Given the description of an element on the screen output the (x, y) to click on. 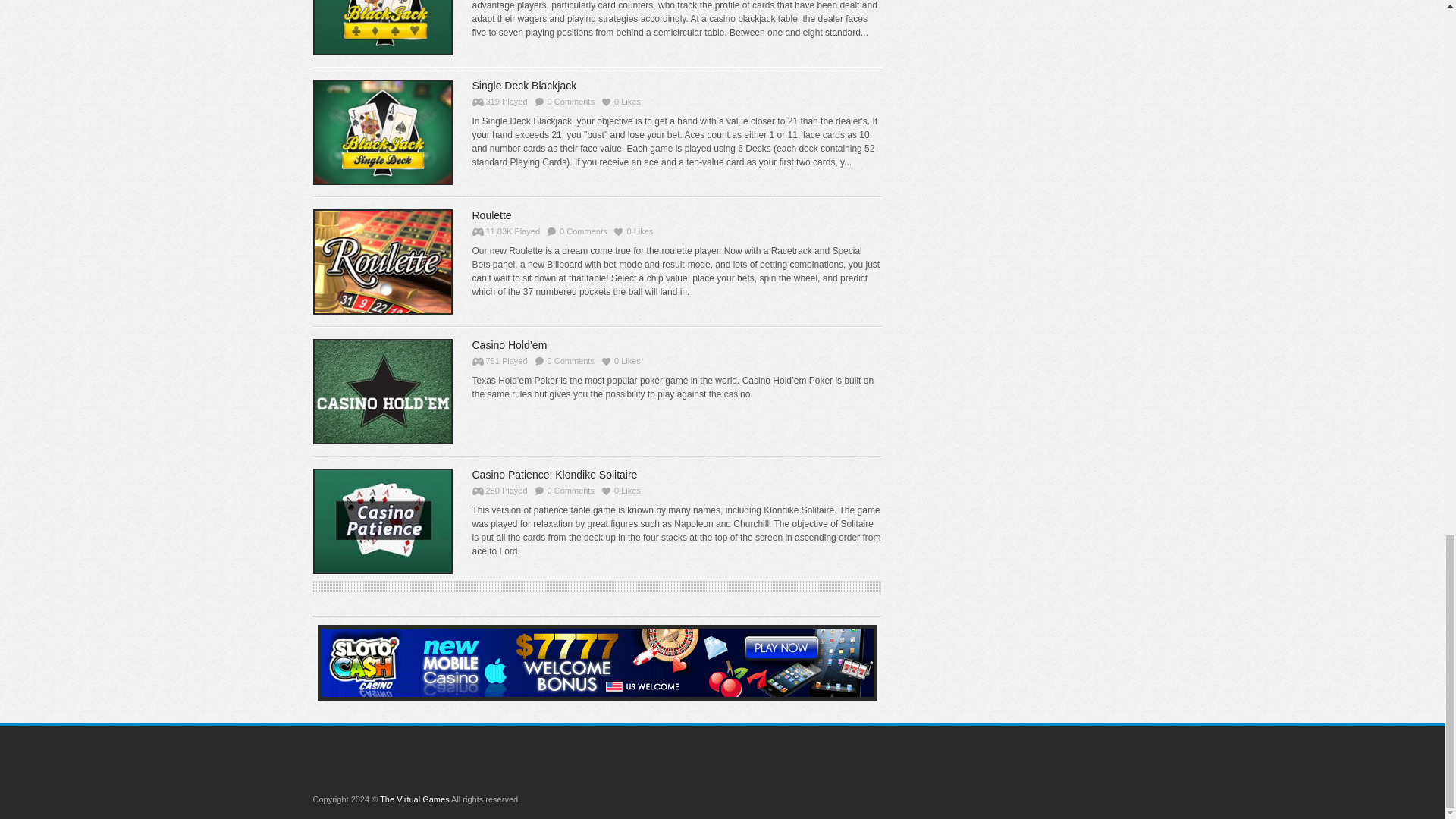
Blackjack (381, 64)
Roulette (381, 262)
Single Deck Blackjack (523, 85)
Casino Patience: Klondike Solitaire (381, 520)
Roulette (491, 215)
The Virtual Games (414, 798)
Single Deck Blackjack (381, 131)
Casino Patience: Klondike Solitaire (554, 474)
